Given the description of an element on the screen output the (x, y) to click on. 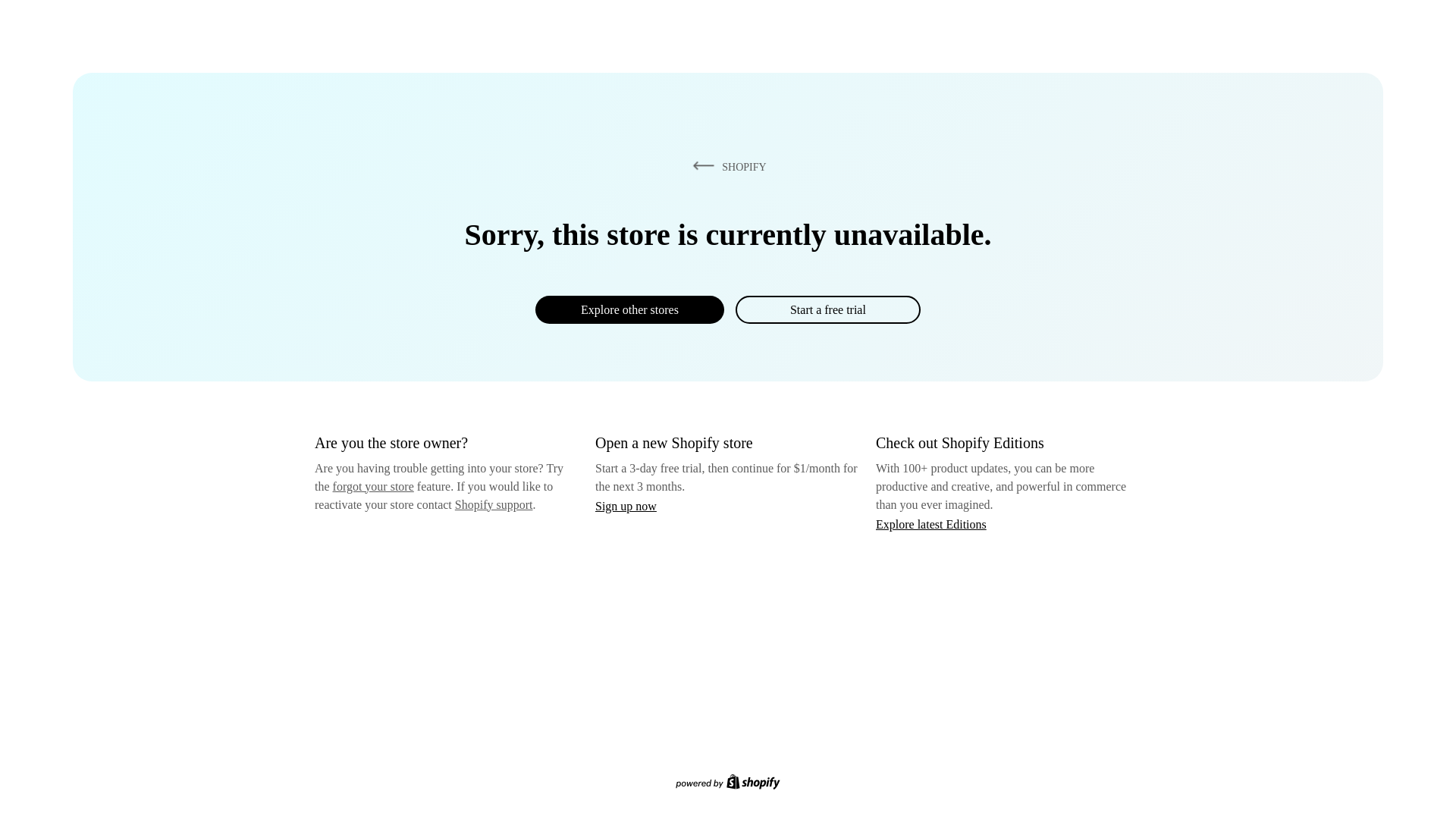
Shopify support (493, 504)
SHOPIFY (726, 166)
Sign up now (625, 505)
Explore other stores (629, 309)
Start a free trial (827, 309)
forgot your store (373, 486)
Explore latest Editions (931, 523)
